Given the description of an element on the screen output the (x, y) to click on. 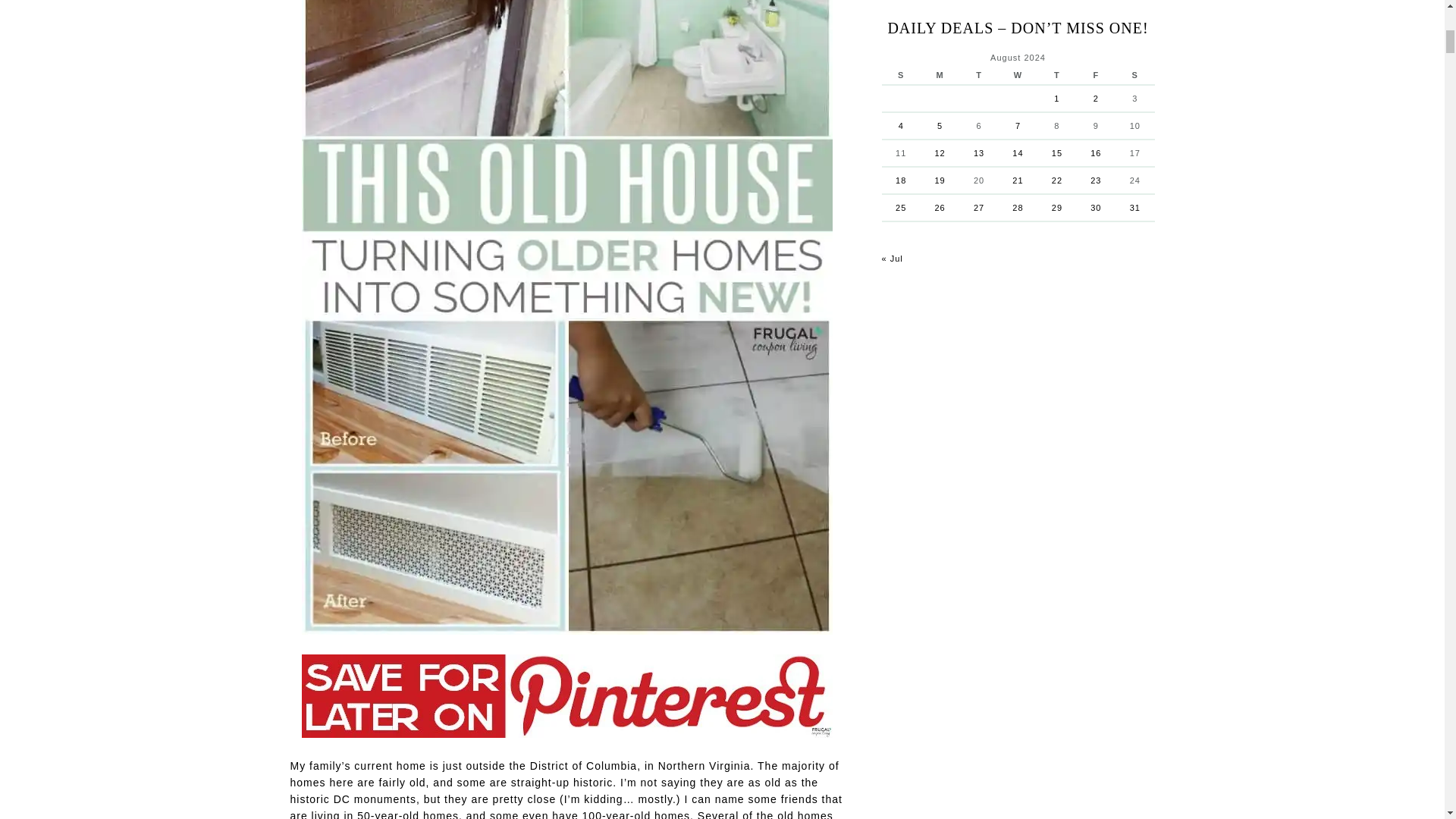
Friday (1096, 75)
Thursday (1055, 75)
Monday (939, 75)
Tuesday (978, 75)
Sunday (900, 75)
Wednesday (1017, 75)
Saturday (1134, 75)
